Given the description of an element on the screen output the (x, y) to click on. 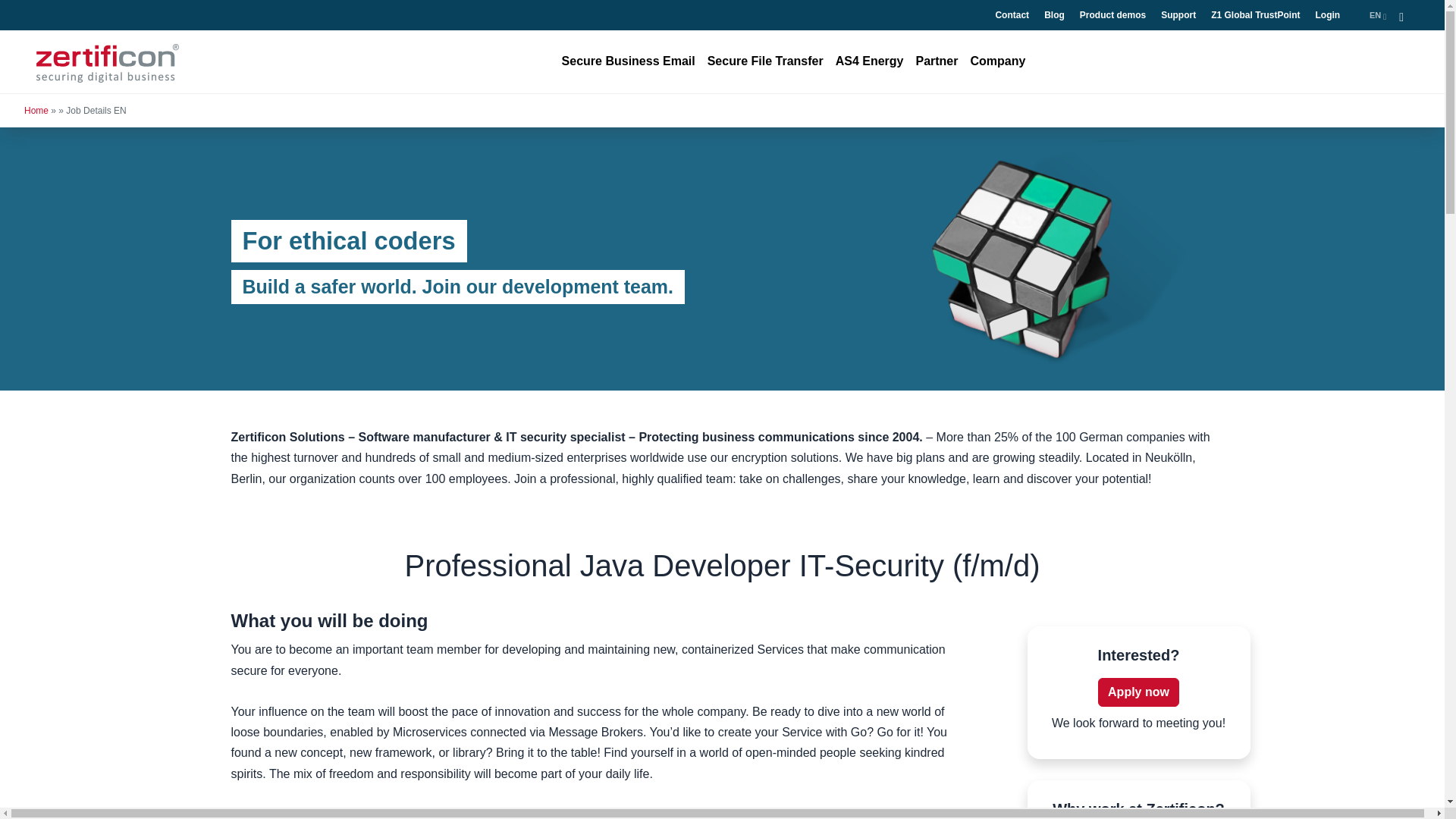
Product demos (1112, 15)
Z1 Global TrustPoint (1255, 15)
Blog (1053, 15)
EN (1377, 14)
Contact (1011, 15)
Support (1178, 15)
Secure Business Email (628, 61)
Secure File Transfer (765, 61)
Login (1327, 15)
AS4 Energy (869, 61)
